Given the description of an element on the screen output the (x, y) to click on. 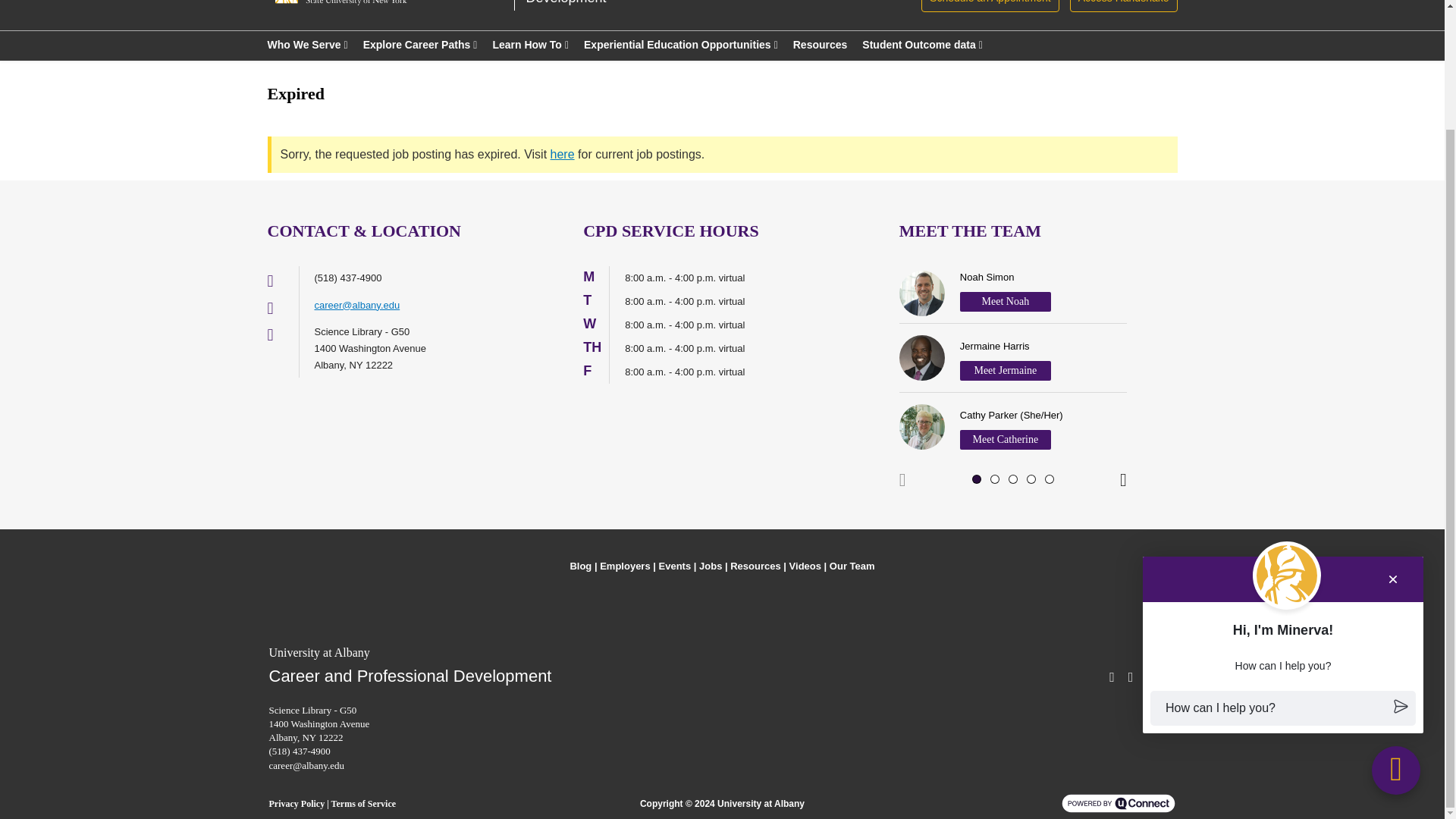
Explore Career Paths (419, 44)
Schedule an Appointment (598, 2)
Access Handshake (990, 6)
Who We Serve (1123, 6)
